Given the description of an element on the screen output the (x, y) to click on. 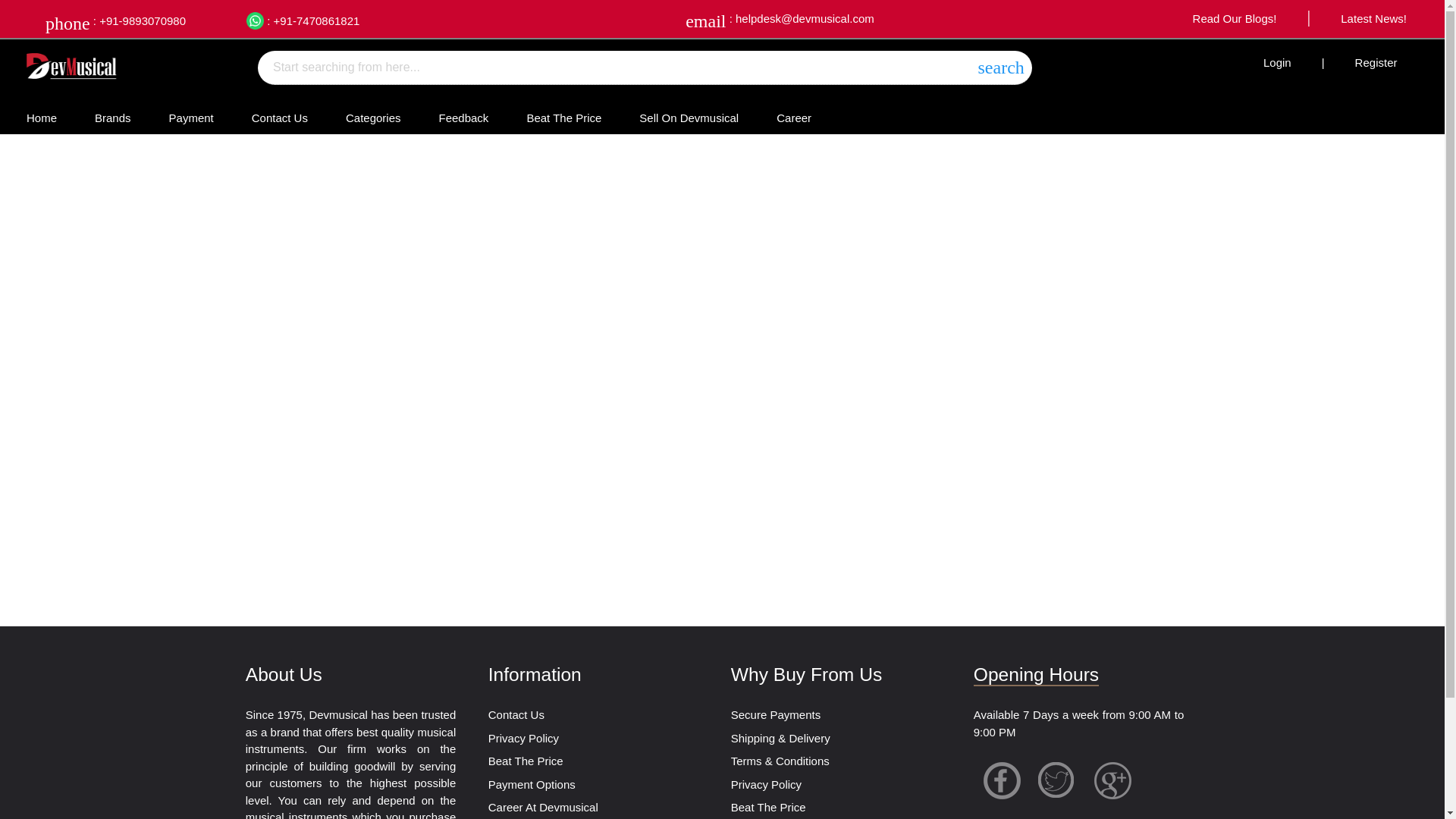
Login (1277, 62)
Devmusical (71, 64)
Payment Options (531, 784)
Latest News! (1373, 18)
Beat The Price (525, 760)
Contact Us (515, 714)
Career At Devmusical (542, 807)
Read Our Blogs! (1234, 18)
Sell On Devmusical (688, 117)
Career (793, 117)
Home (41, 117)
Register (1376, 62)
Contact Us (279, 117)
Privacy Policy (523, 738)
Payment (190, 117)
